Given the description of an element on the screen output the (x, y) to click on. 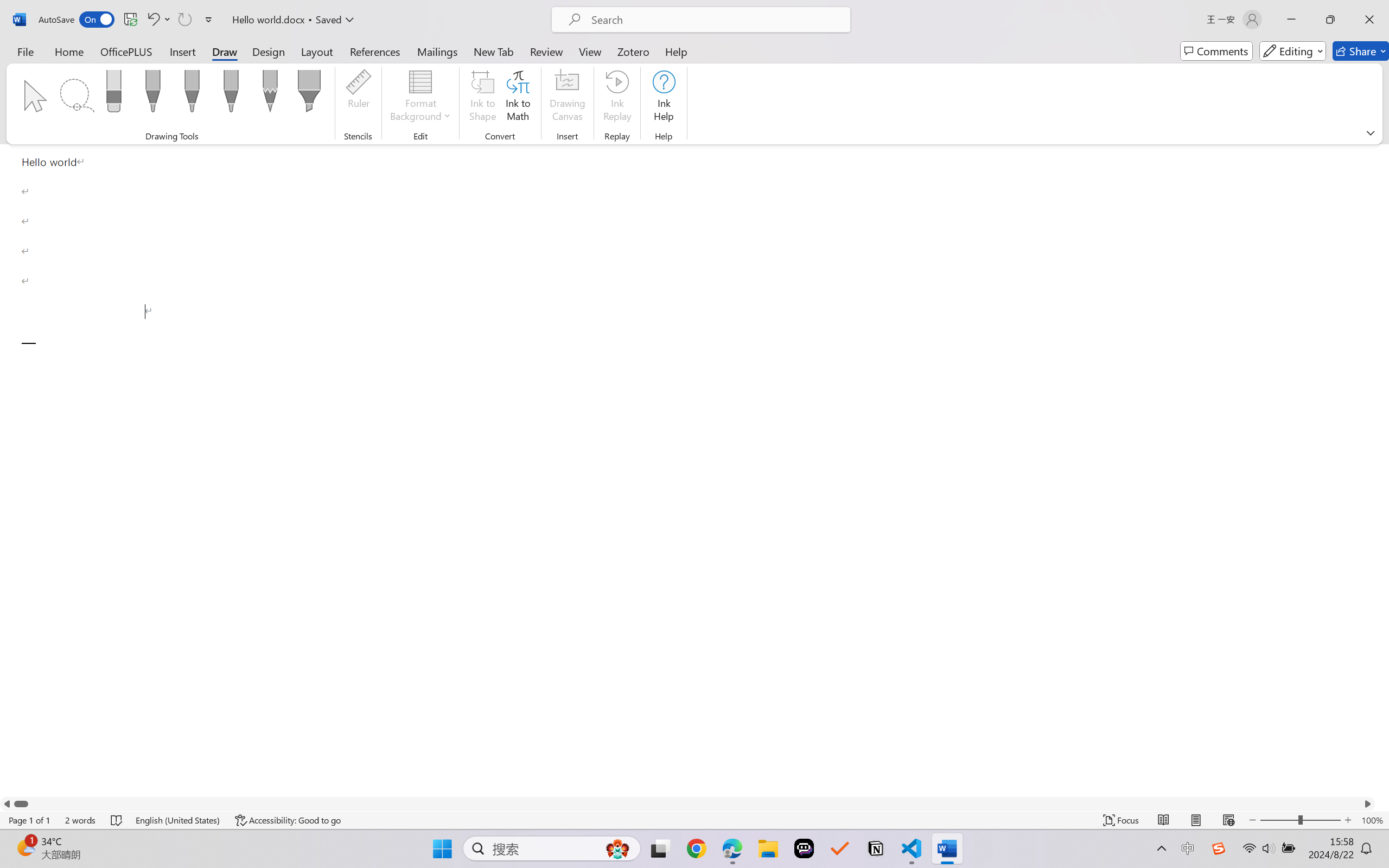
Can't Repeat (184, 19)
Pen: Red, 0.5 mm (191, 94)
Pencil: Gray, 1 mm (270, 94)
Undo Paragraph Formatting (152, 19)
Accessibility Checker Accessibility: Good to go (288, 819)
Zoom In (1348, 819)
Review (546, 51)
Ribbon Display Options (1370, 132)
View (589, 51)
Format Background (420, 97)
Language English (United States) (178, 819)
Mailings (437, 51)
Page Number Page 1 of 1 (29, 819)
